Given the description of an element on the screen output the (x, y) to click on. 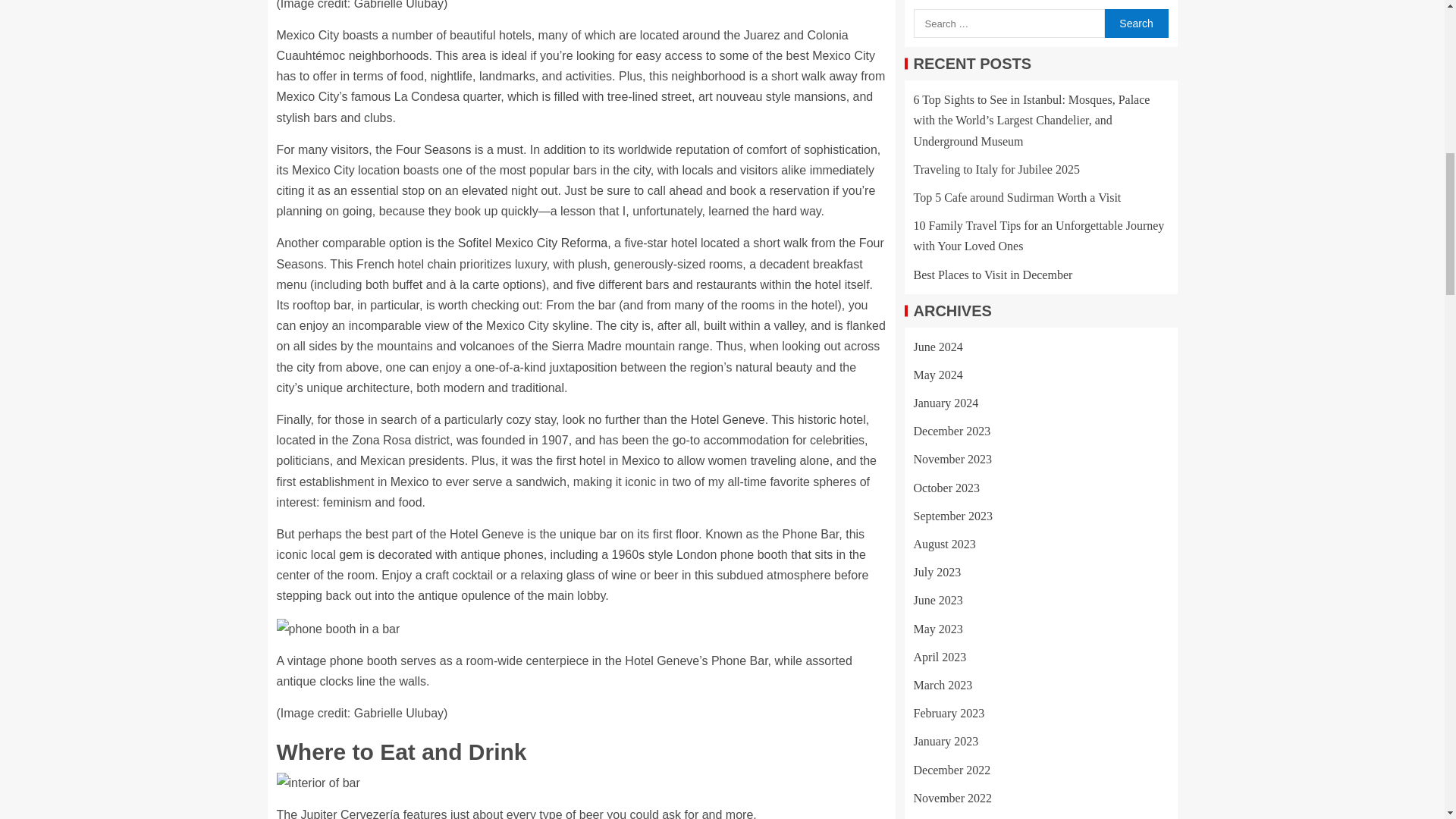
Hotel Geneve (727, 419)
Sofitel Mexico City Reforma (532, 242)
Four Seasons (433, 149)
